Given the description of an element on the screen output the (x, y) to click on. 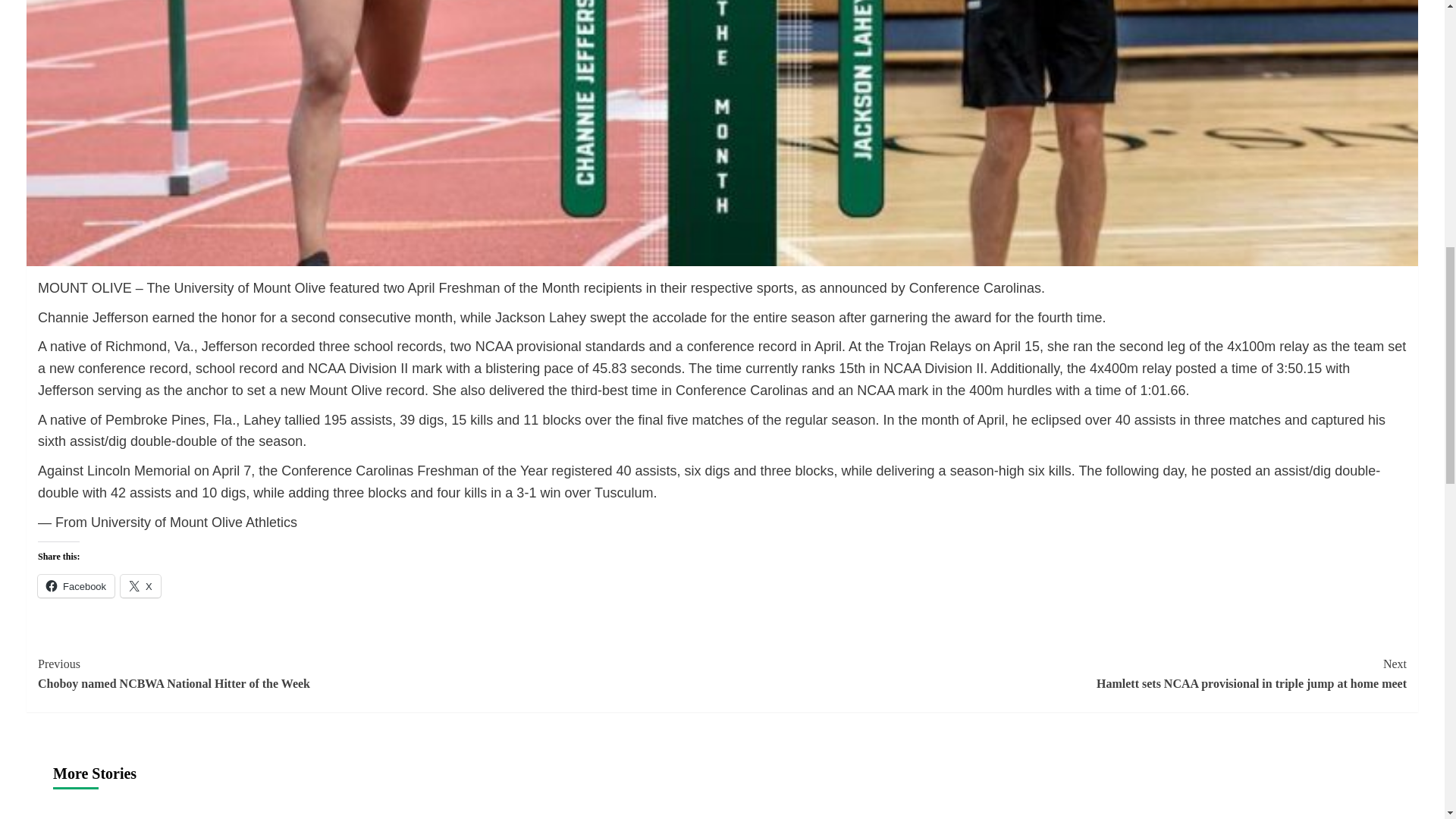
X (140, 585)
Click to share on X (379, 673)
Click to share on Facebook (140, 585)
Facebook (76, 585)
